Given the description of an element on the screen output the (x, y) to click on. 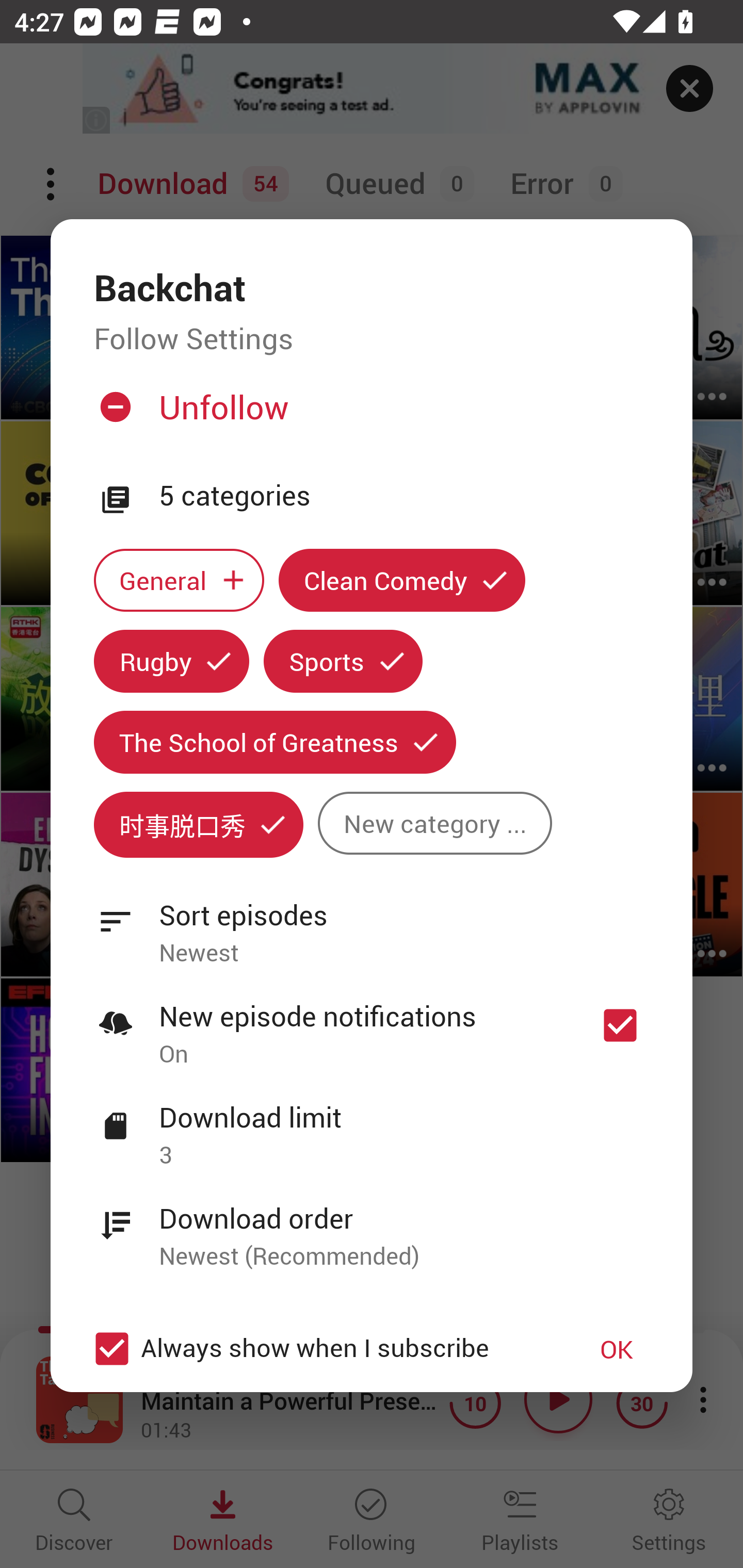
Unfollow (369, 415)
5 categories (404, 495)
General (178, 579)
Clean Comedy (401, 579)
Rugby (170, 661)
Sports (342, 661)
The School of Greatness (274, 741)
时事脱口秀 (198, 824)
New category ... (435, 822)
Sort episodes Newest (371, 922)
New episode notifications (620, 1025)
Download limit 3 (371, 1125)
Download order Newest (Recommended) (371, 1226)
OK (616, 1349)
Always show when I subscribe (320, 1349)
